Given the description of an element on the screen output the (x, y) to click on. 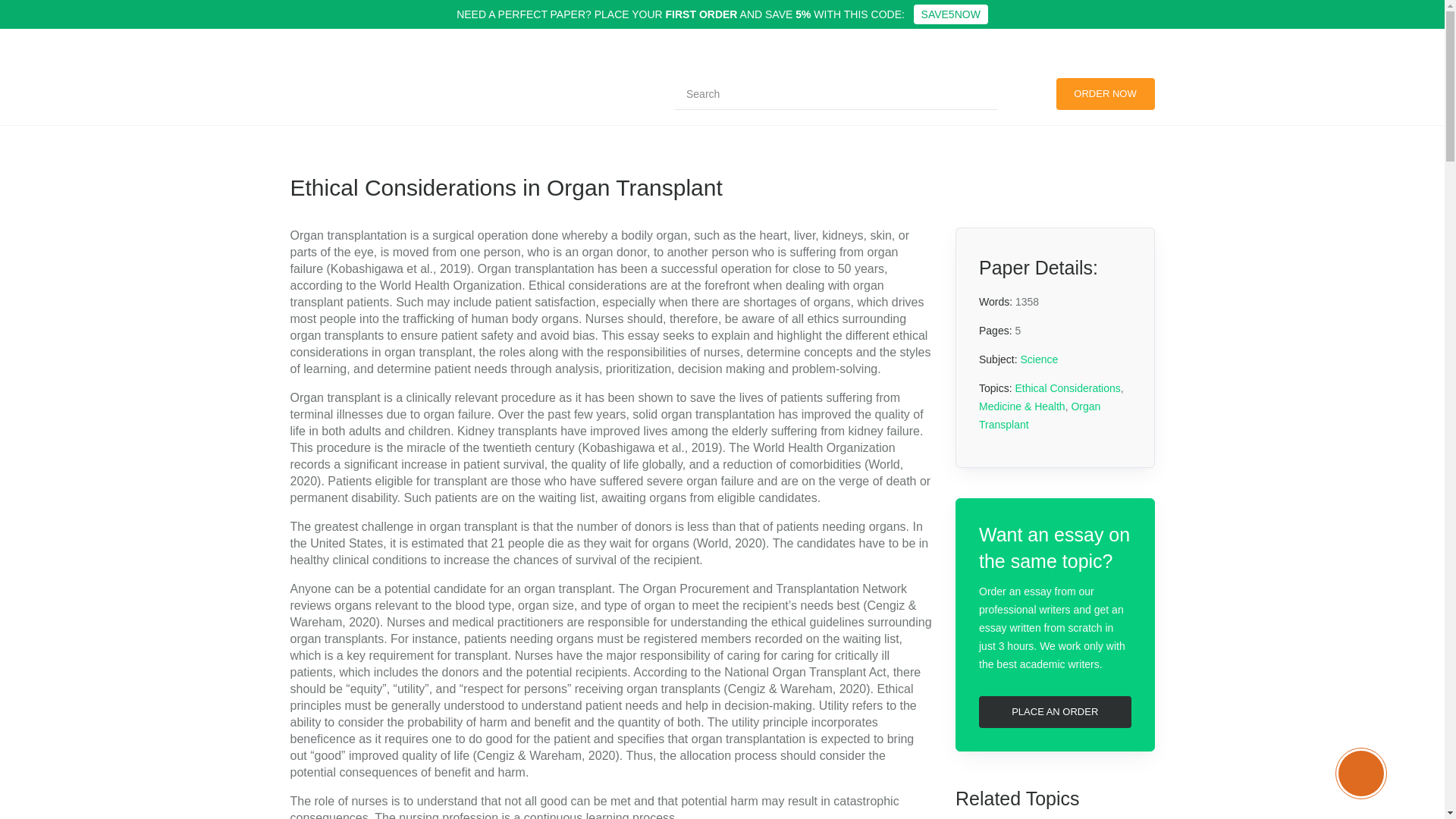
ORDER NOW (1104, 93)
Science (354, 101)
Science (1039, 358)
PLACE AN ORDER (1054, 712)
Home (305, 101)
Ethical Considerations (1066, 387)
Organ Transplant (1039, 415)
SAVE5NOW (951, 14)
